Given the description of an element on the screen output the (x, y) to click on. 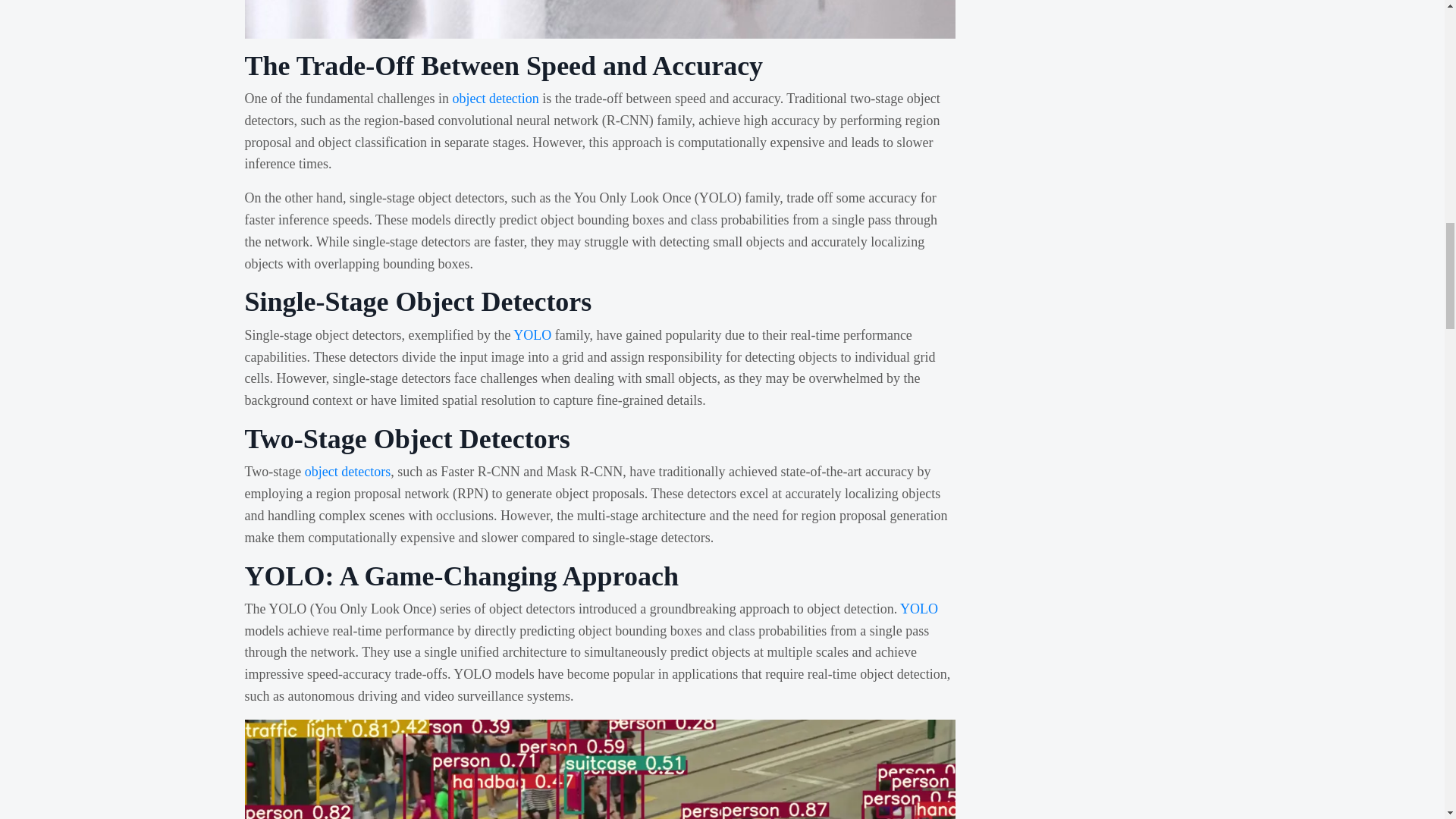
object detectors (347, 471)
YOLO (918, 608)
object detection (494, 98)
YOLO (532, 335)
